Given the description of an element on the screen output the (x, y) to click on. 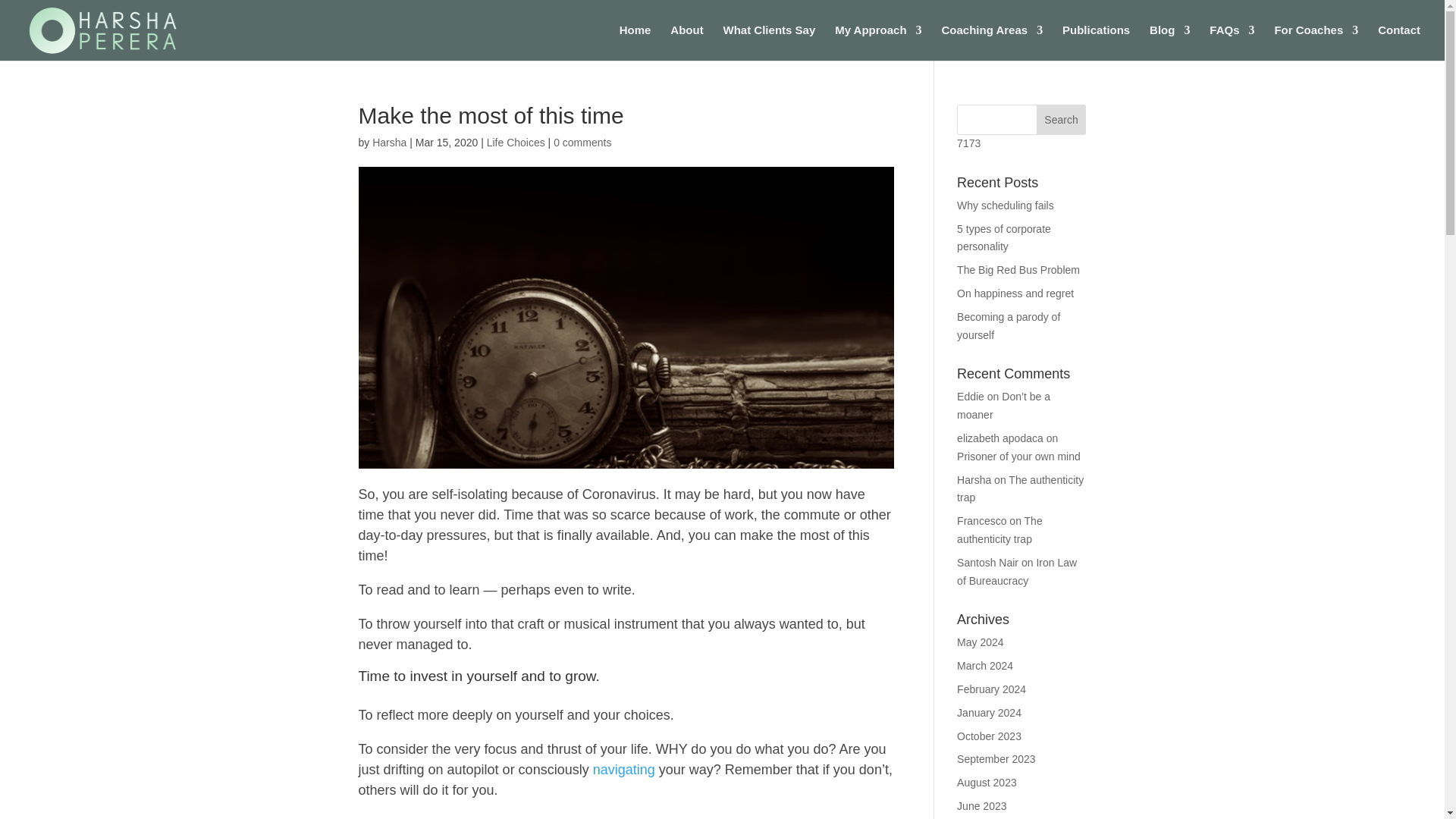
Home (635, 42)
About (686, 42)
Contact (1399, 42)
My Approach (877, 42)
What Clients Say (769, 42)
FAQs (1231, 42)
For Coaches (1316, 42)
Blog (1169, 42)
Publications (1095, 42)
Search (1061, 119)
